Given the description of an element on the screen output the (x, y) to click on. 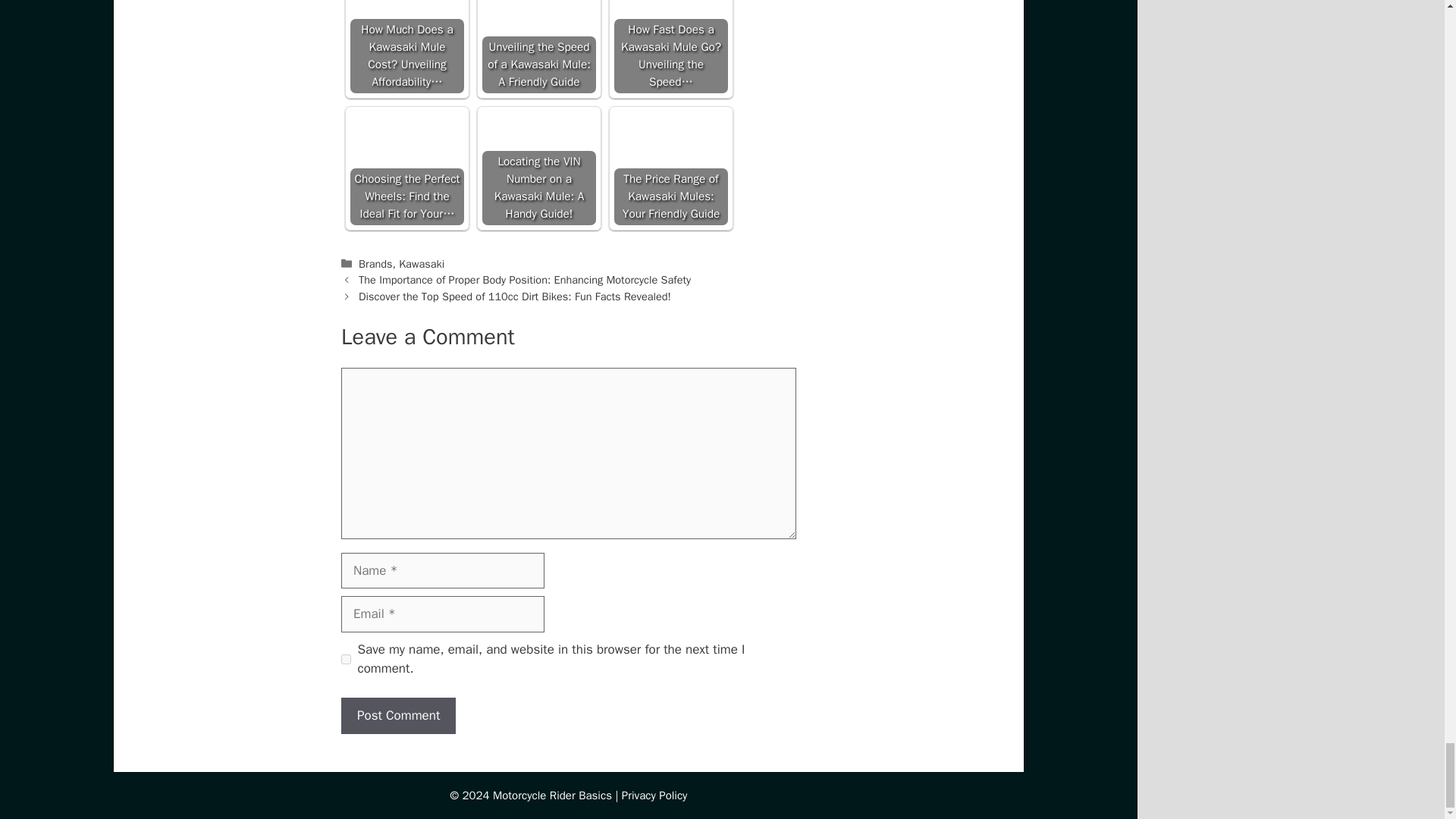
Post Comment (397, 715)
Kawasaki (421, 264)
The Price Range of Kawasaki Mules: Your Friendly Guide (671, 149)
Post Comment (397, 715)
Privacy Policy (654, 795)
Locating the VIN Number on a Kawasaki Mule: A Handy Guide! (538, 149)
Unveiling the Speed of a Kawasaki Mule: A Friendly Guide (538, 46)
Locating the VIN Number on a Kawasaki Mule: A Handy Guide! (538, 168)
Brands (374, 264)
The Price Range of Kawasaki Mules: Your Friendly Guide (671, 168)
Unveiling the Speed of a Kawasaki Mule: A Friendly Guide (538, 27)
yes (345, 659)
